Given the description of an element on the screen output the (x, y) to click on. 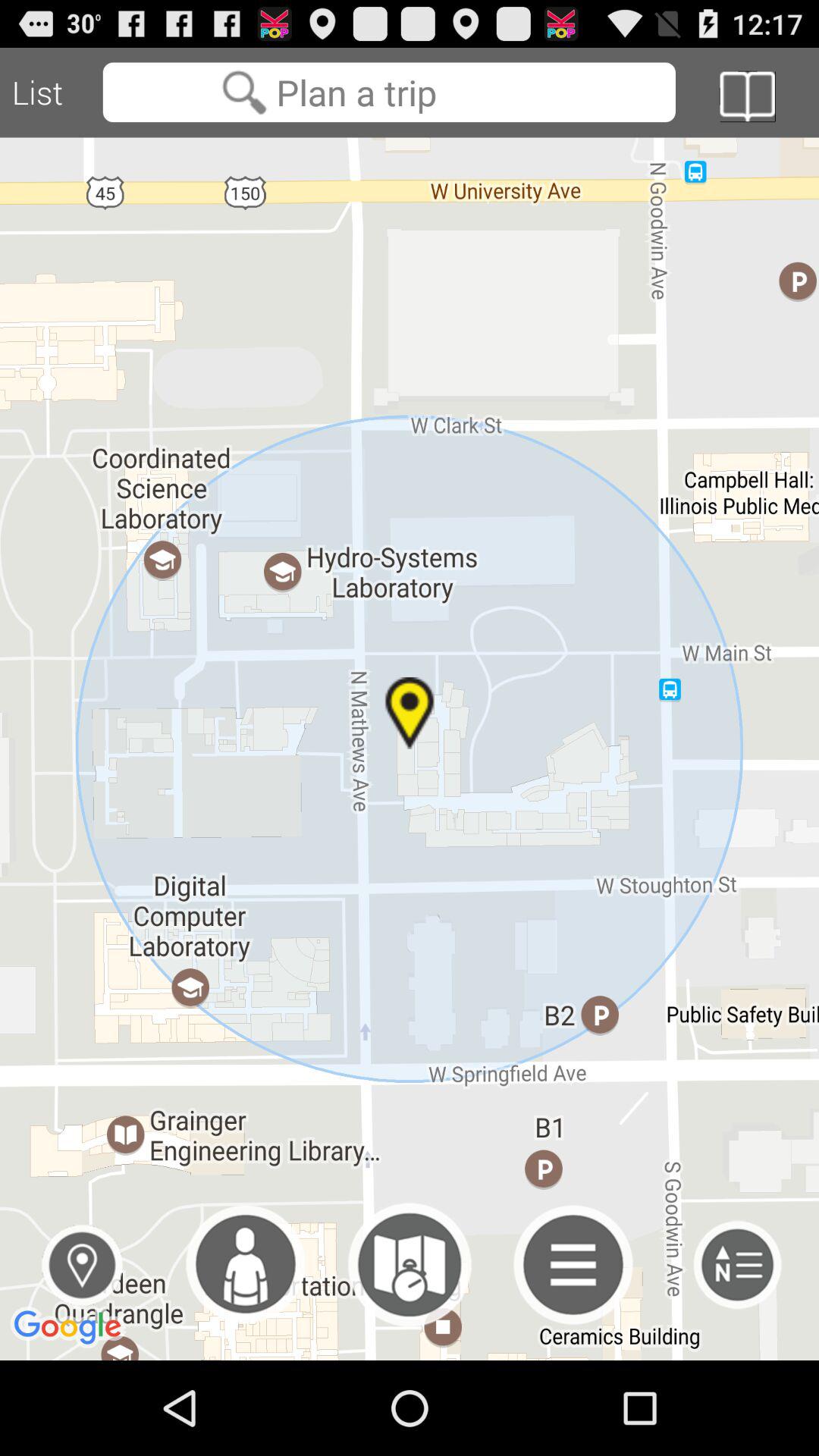
launch the icon at the bottom (409, 1264)
